Given the description of an element on the screen output the (x, y) to click on. 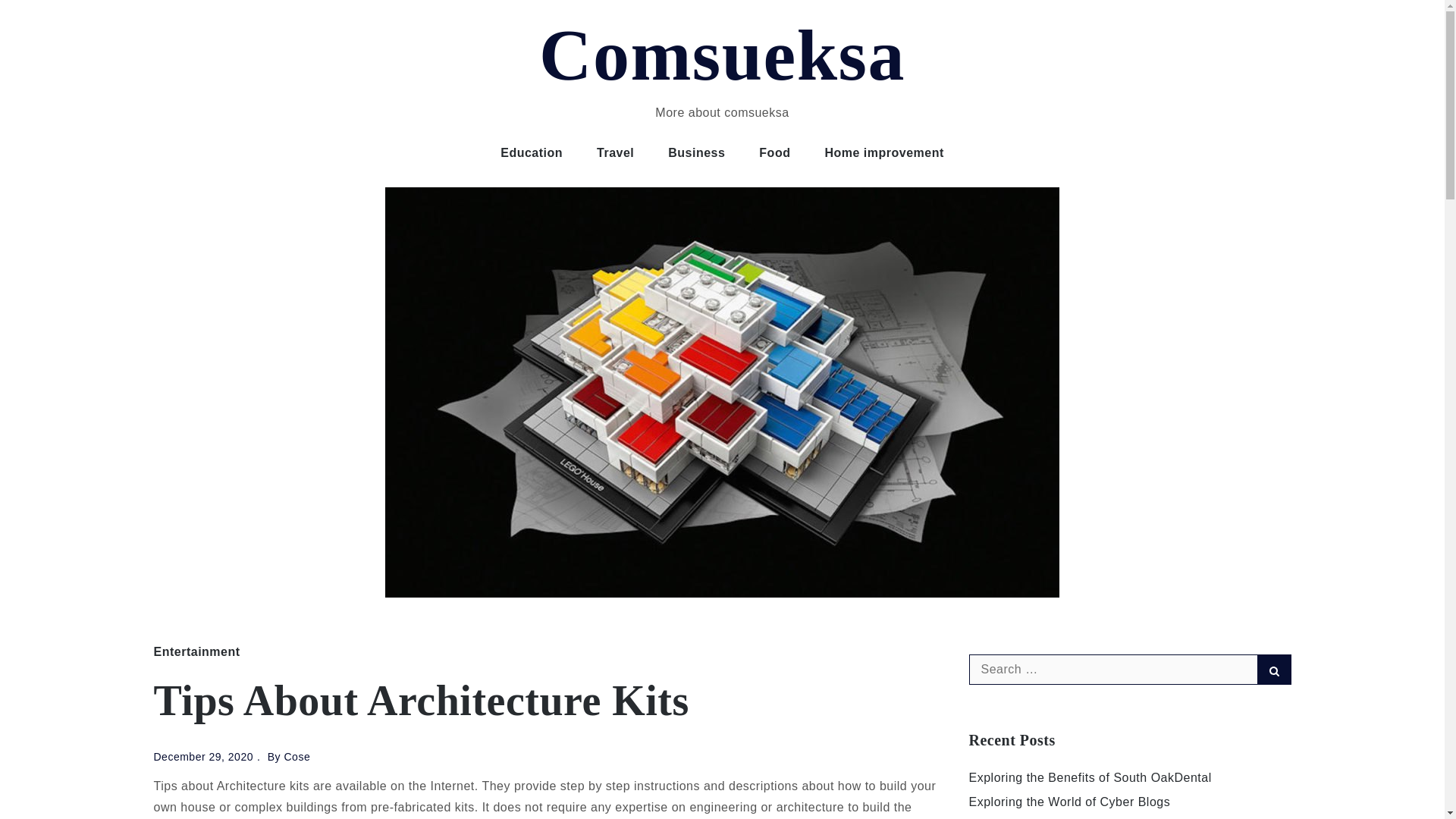
Comsueksa (721, 54)
Exploring the Benefits of South OakDental (1090, 777)
Travel (614, 152)
Education (531, 152)
Search (1274, 669)
Home improvement (883, 152)
Entertainment (196, 651)
Food (774, 152)
Cose (296, 756)
Business (695, 152)
